Given the description of an element on the screen output the (x, y) to click on. 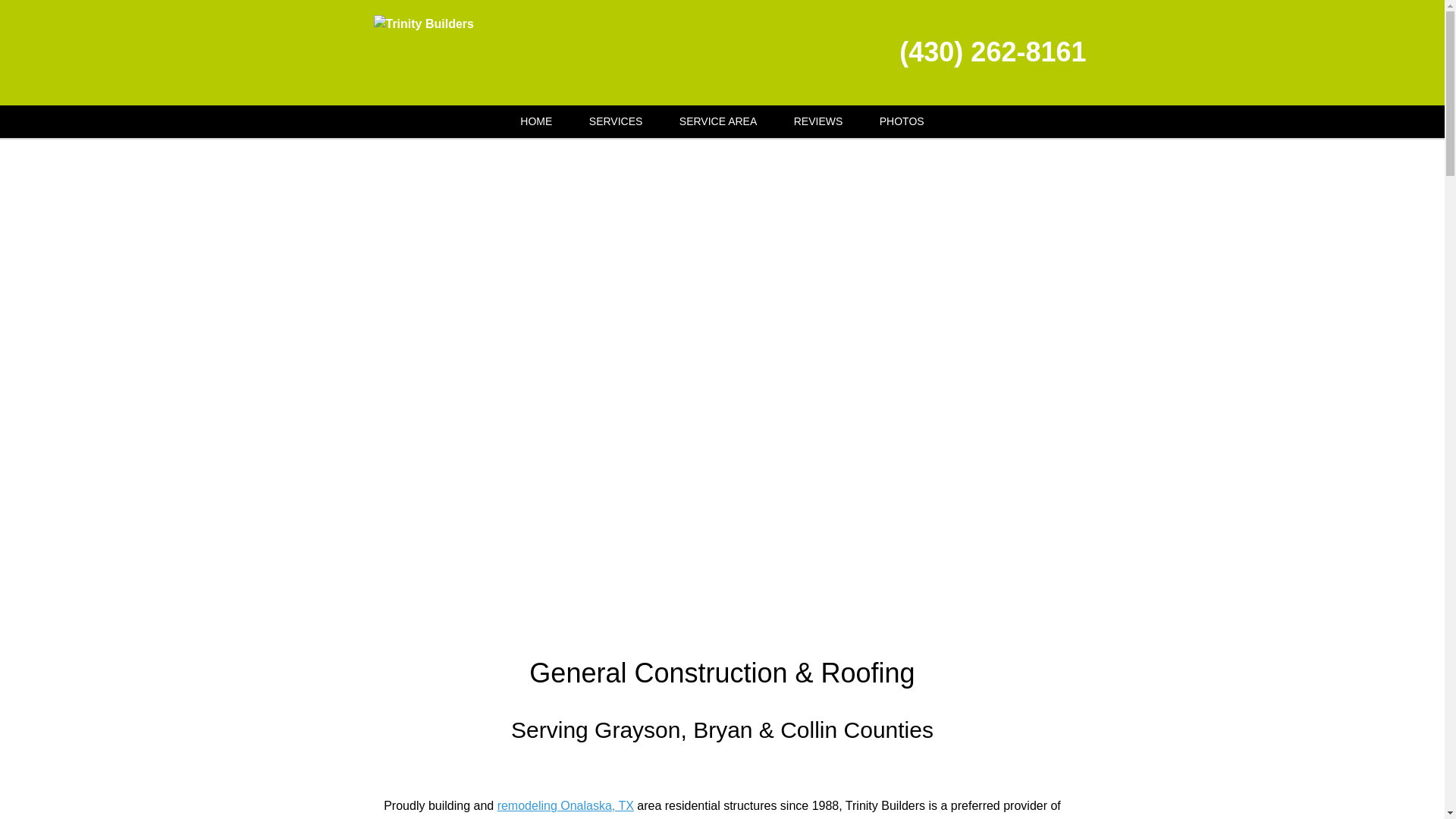
PHOTOS (901, 121)
remodeling Onalaska, TX (565, 805)
REVIEWS (818, 121)
SERVICE AREA (717, 121)
SERVICES (615, 121)
HOME (536, 121)
